Given the description of an element on the screen output the (x, y) to click on. 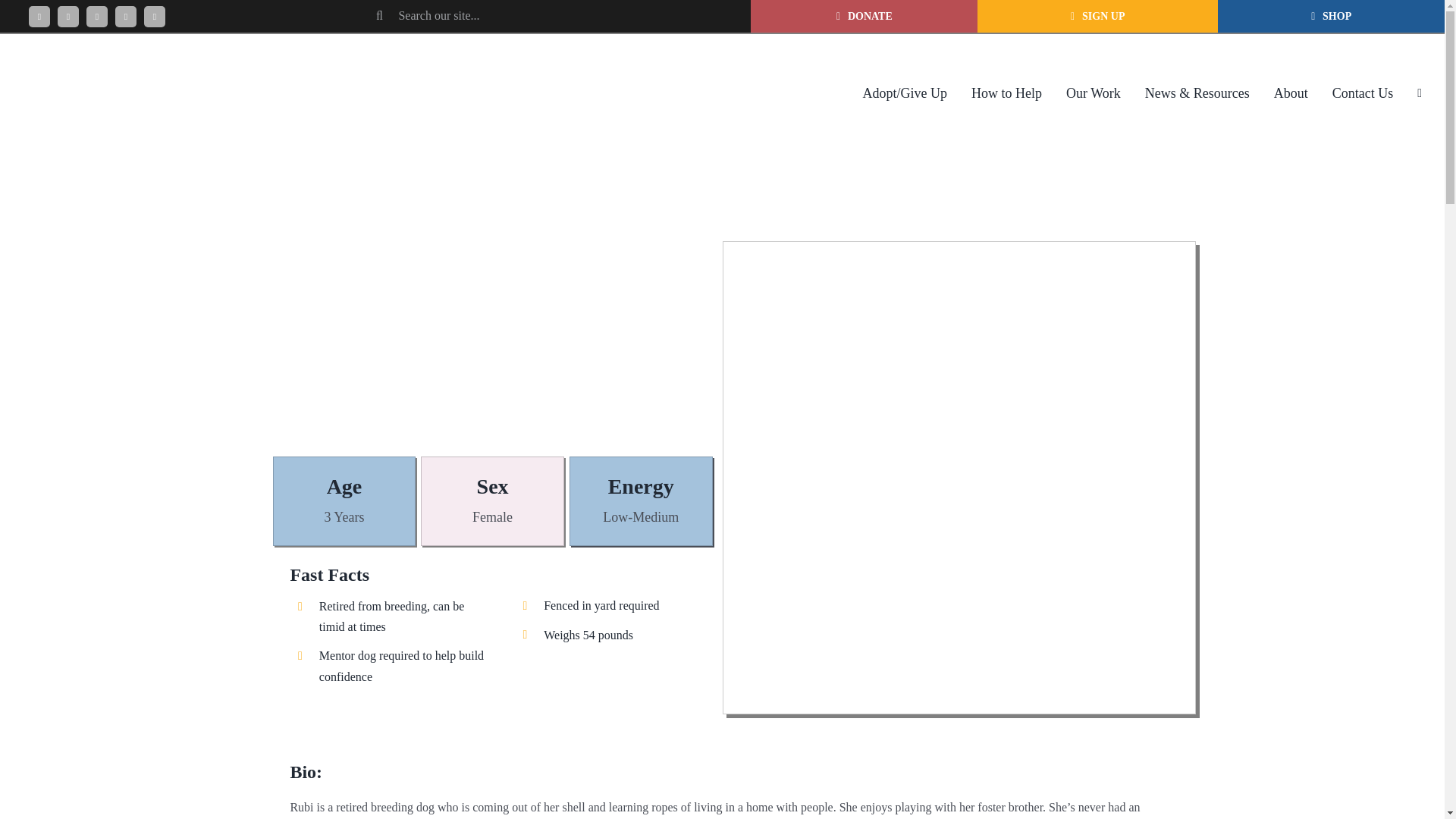
DONATE (863, 16)
Rubi 177-23 (958, 261)
SIGN UP (1096, 16)
X (68, 16)
LinkedIn (154, 16)
Facebook (39, 16)
YouTube (125, 16)
Instagram (96, 16)
